Given the description of an element on the screen output the (x, y) to click on. 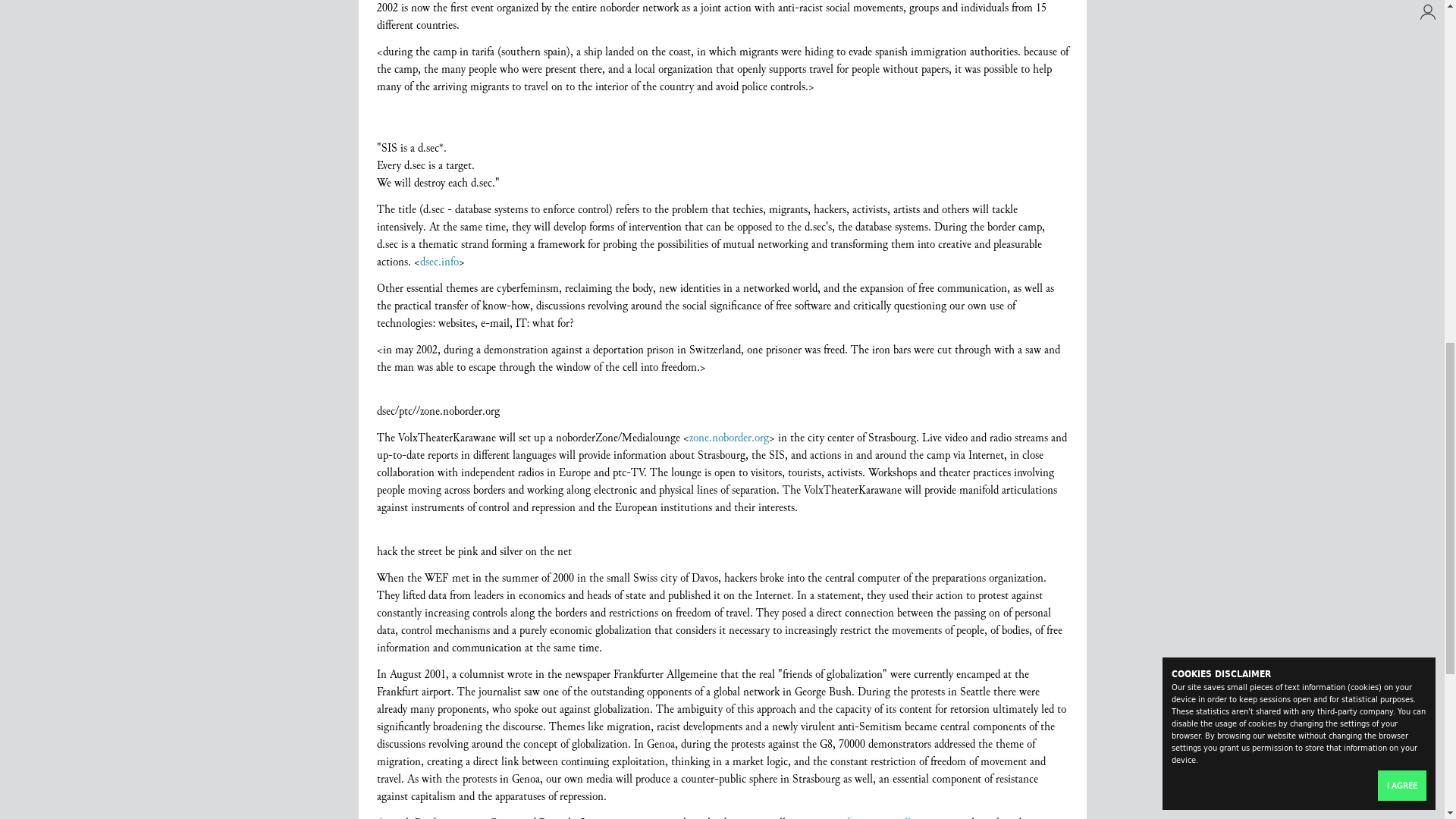
www.deportation-alliance.com (885, 816)
dsec.info (439, 262)
zone.noborder.org (728, 437)
